Given the description of an element on the screen output the (x, y) to click on. 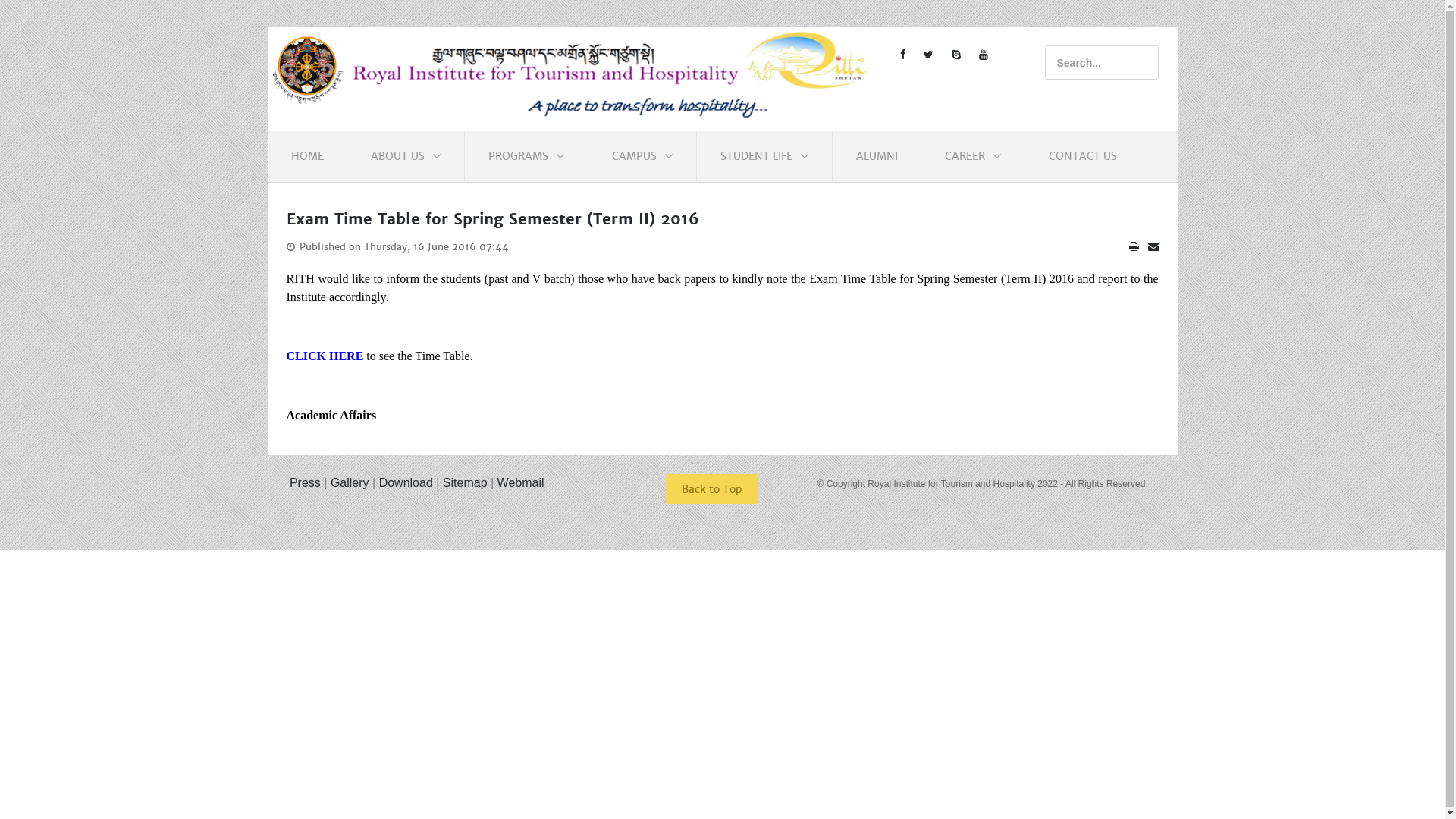
PROGRAMS Element type: text (526, 156)
CAMPUS Element type: text (641, 156)
Exam Time Table for Spring Semester (Term II) 2016 Element type: text (492, 219)
Print Element type: hover (1133, 246)
Back to Top Element type: text (711, 488)
CLICK HERE Element type: text (325, 355)
Email Element type: hover (1153, 246)
Webmail Element type: text (520, 482)
Gallery Element type: text (349, 482)
ALUMNI Element type: text (875, 156)
Download Element type: text (406, 482)
 Press Element type: text (303, 482)
CAREER Element type: text (973, 156)
ABOUT US Element type: text (405, 156)
HOME Element type: text (307, 156)
CONTACT US Element type: text (1082, 156)
STUDENT LIFE Element type: text (764, 156)
Sitemap Element type: text (464, 482)
